Given the description of an element on the screen output the (x, y) to click on. 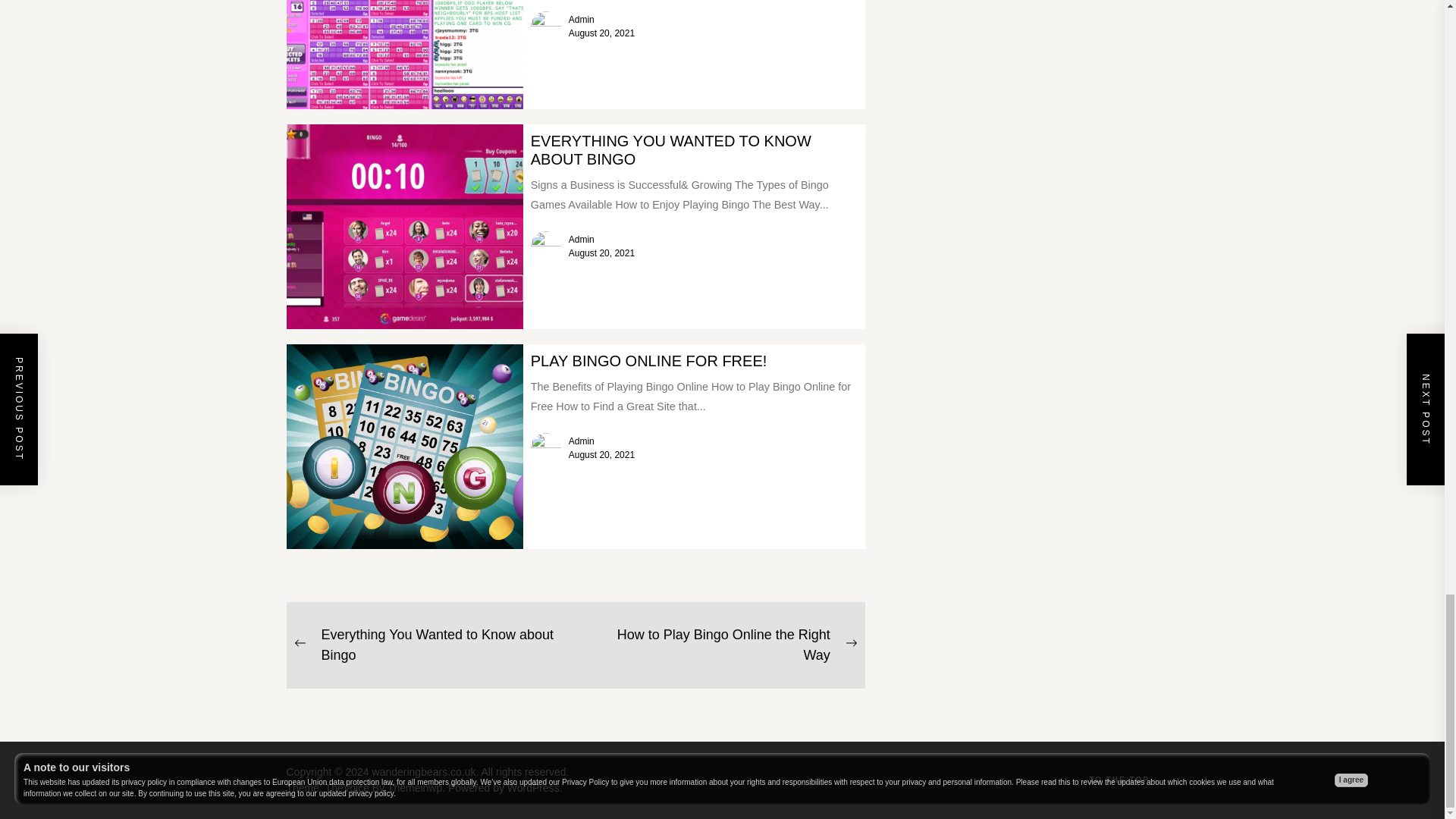
Admin (581, 440)
Themeinwp (427, 644)
WordPress (724, 644)
PLAY BINGO ONLINE FOR FREE! (417, 787)
Admin (534, 787)
August 20, 2021 (649, 360)
Admin (581, 239)
wanderingbears.co.uk (601, 32)
EVERYTHING YOU WANTED TO KNOW ABOUT BINGO (581, 19)
August 20, 2021 (426, 771)
August 20, 2021 (670, 149)
